Given the description of an element on the screen output the (x, y) to click on. 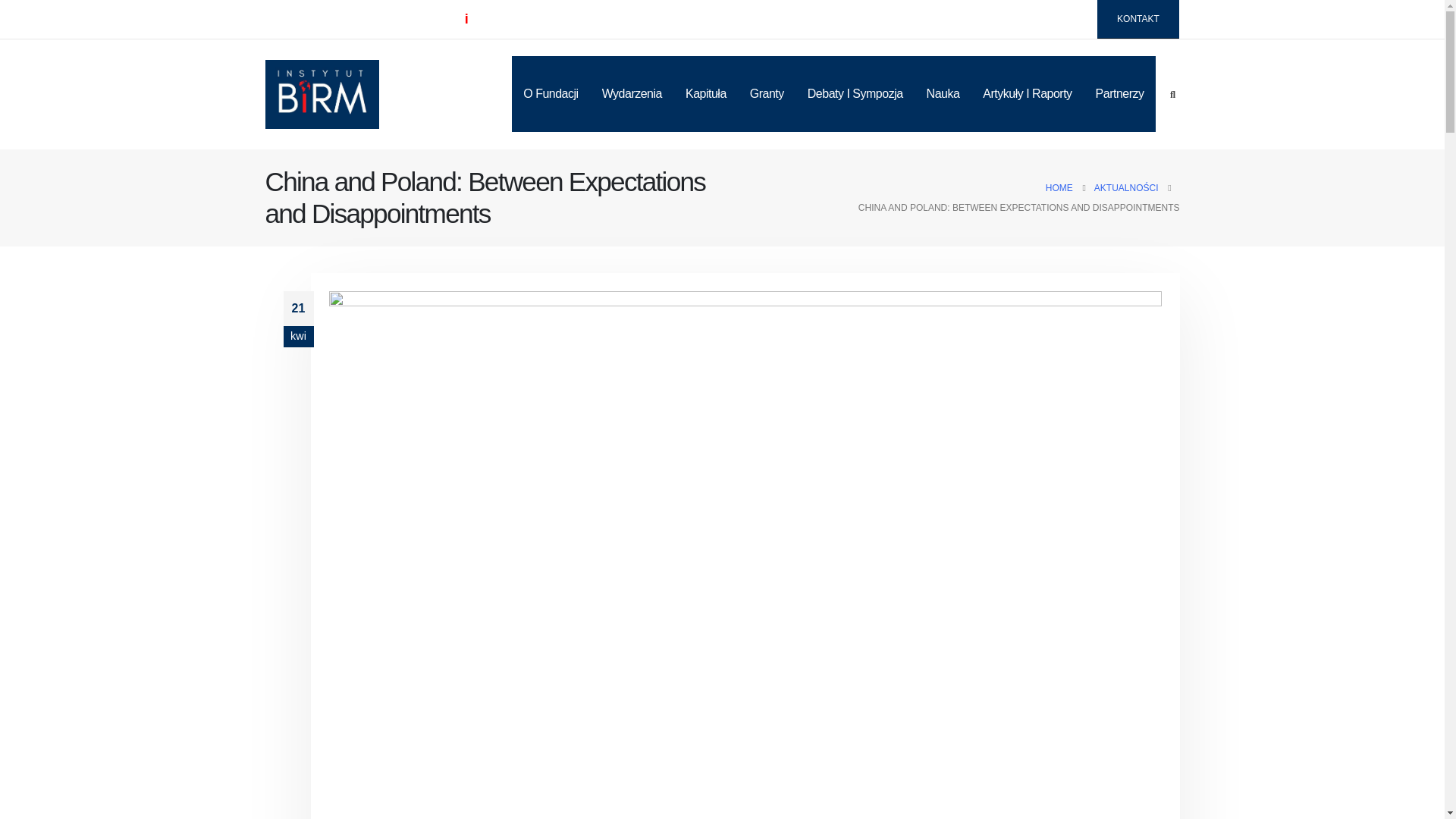
Debaty I Sympozja (855, 93)
KONTAKT (1138, 19)
Facebook (1000, 19)
Wydarzenia (631, 93)
O Fundacji (550, 93)
Go to Home Page (1059, 188)
Youtube (1067, 19)
Twitter (1033, 19)
